Given the description of an element on the screen output the (x, y) to click on. 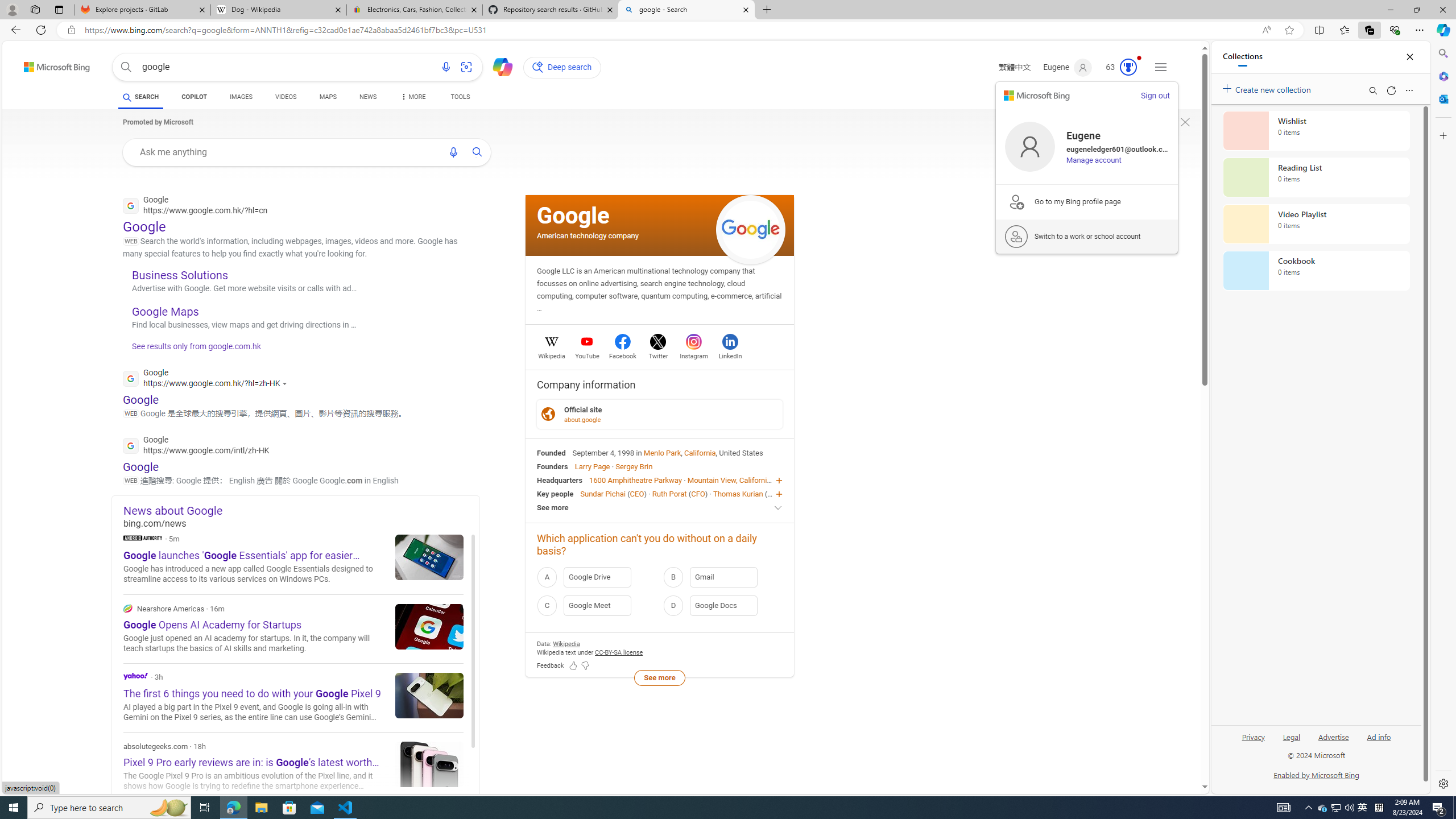
COPILOT (193, 98)
MAPS (327, 96)
YouTube (587, 354)
A Google Drive (596, 576)
Manage account (1093, 159)
Facebook (622, 354)
TOOLS (460, 98)
Chat (497, 65)
